Given the description of an element on the screen output the (x, y) to click on. 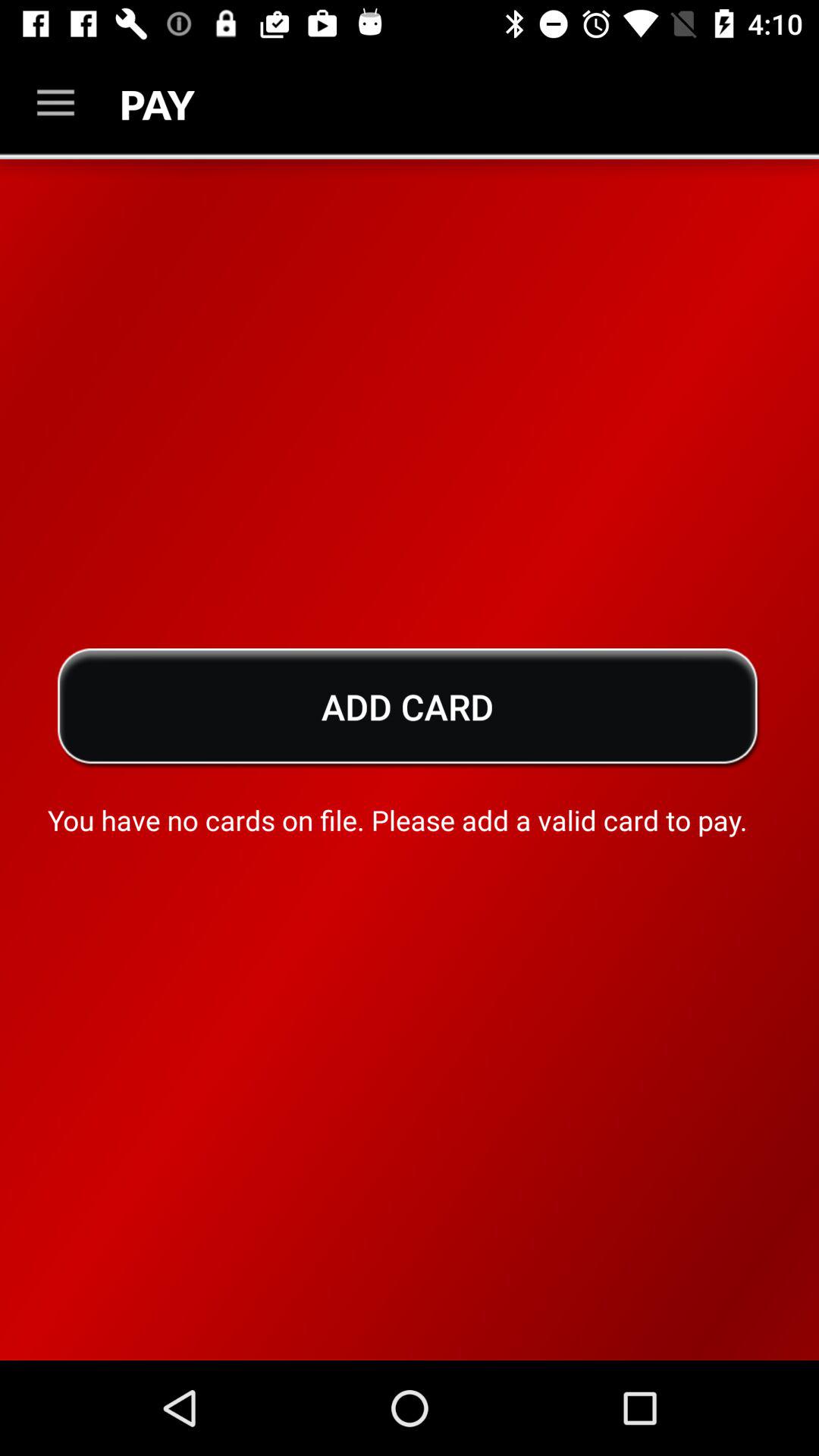
select the icon to the left of the pay (55, 103)
